Given the description of an element on the screen output the (x, y) to click on. 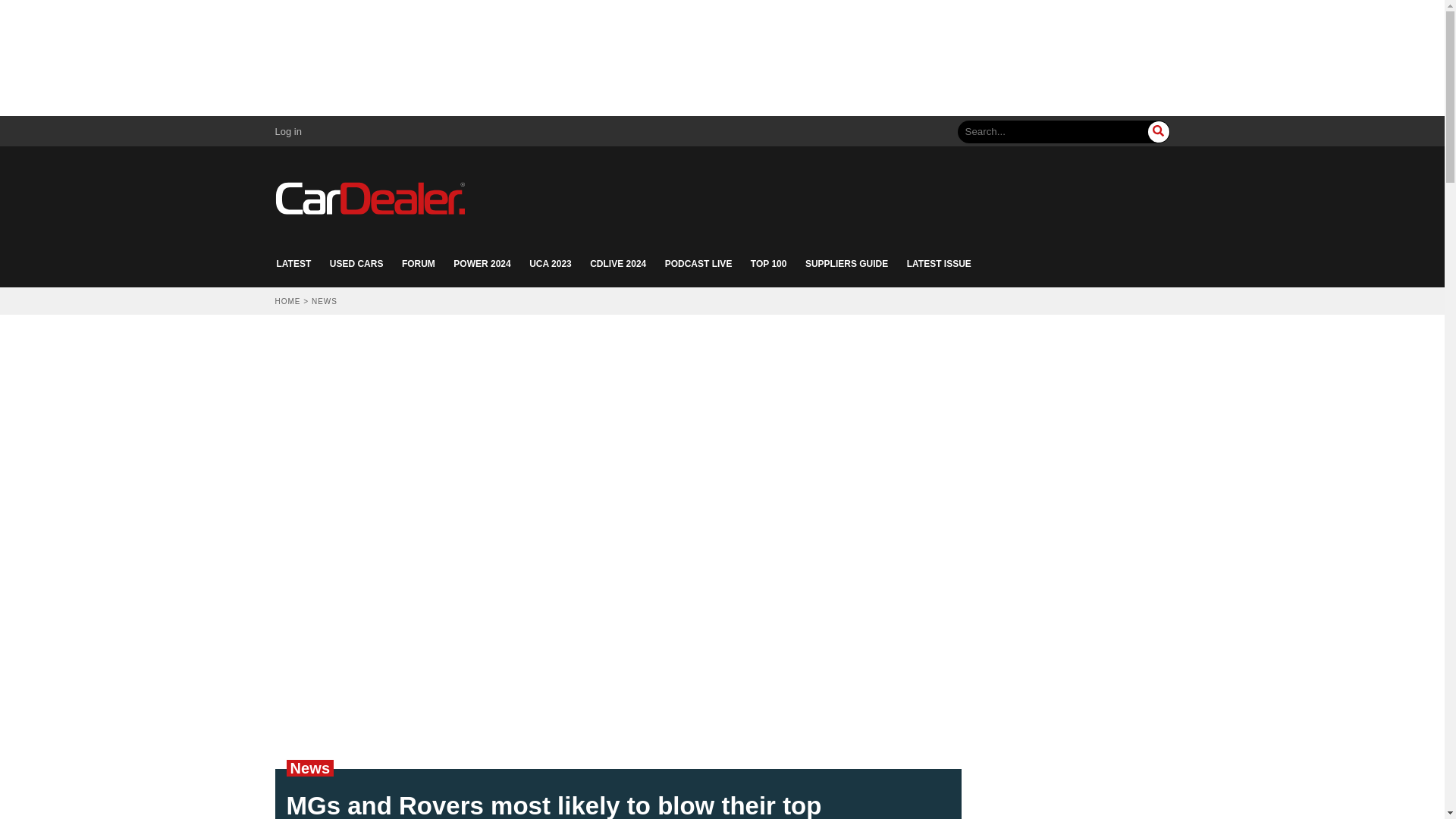
POWER 2024 (481, 263)
News (309, 768)
PODCAST LIVE (698, 263)
Log in (288, 131)
FORUM (418, 263)
SUPPLIERS GUIDE (846, 263)
LATEST (293, 263)
USED CARS (357, 263)
UCA 2023 (550, 263)
HOME (287, 301)
CDLIVE 2024 (617, 263)
TOP 100 (769, 263)
NEWS (324, 301)
LATEST ISSUE (939, 263)
